Given the description of an element on the screen output the (x, y) to click on. 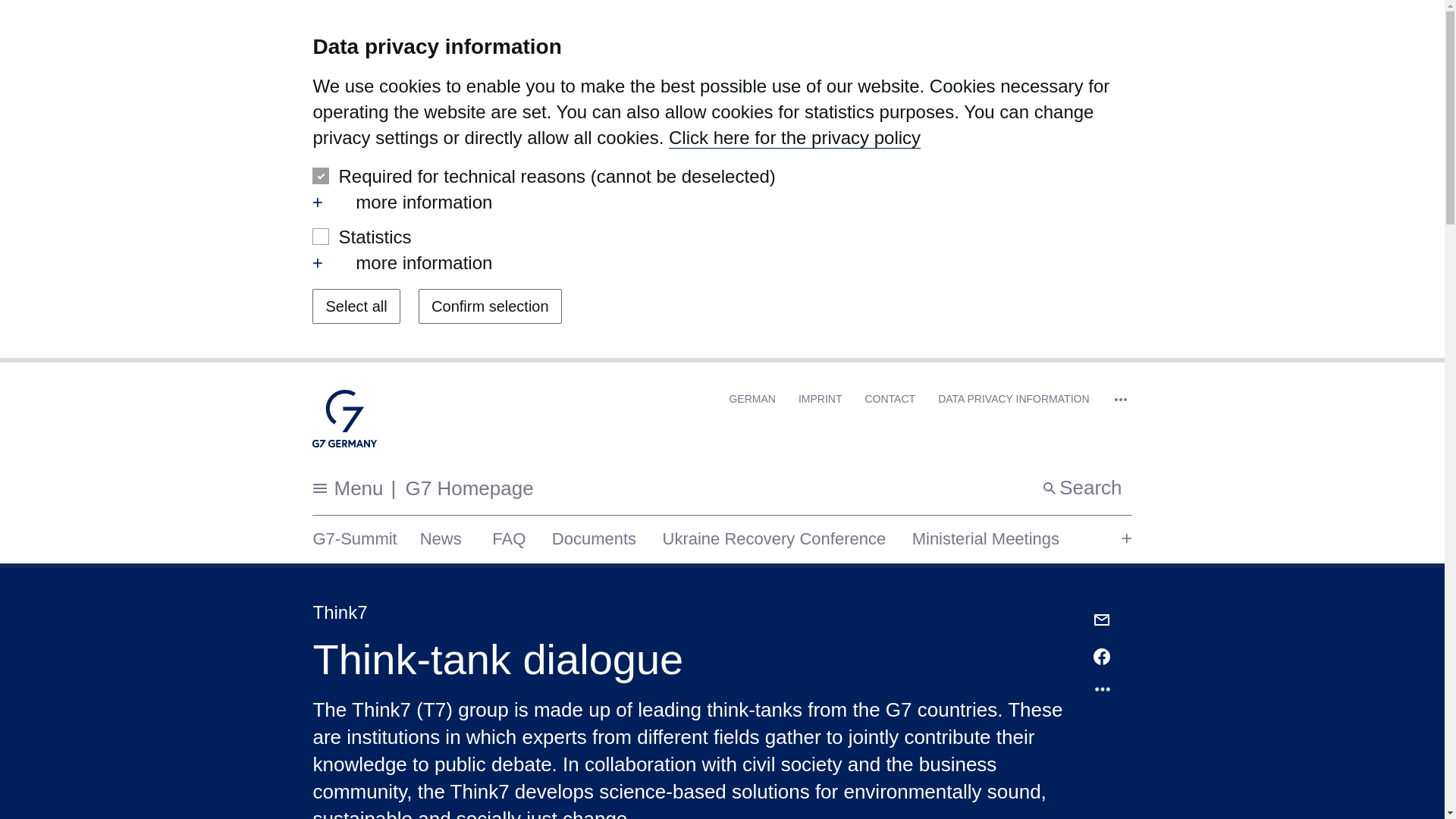
IMPRINT (820, 398)
G7 Homepage (462, 488)
Confirm selection (490, 306)
Menu (330, 488)
CONTACT (889, 398)
Select all (355, 306)
share via Facebook, Think-tank dialogue (1103, 656)
Go to homepage (345, 422)
open (318, 262)
Click here for the privacy policy (722, 202)
GERMAN (794, 137)
DATA PRIVACY INFORMATION (751, 398)
Search (1013, 398)
